Given the description of an element on the screen output the (x, y) to click on. 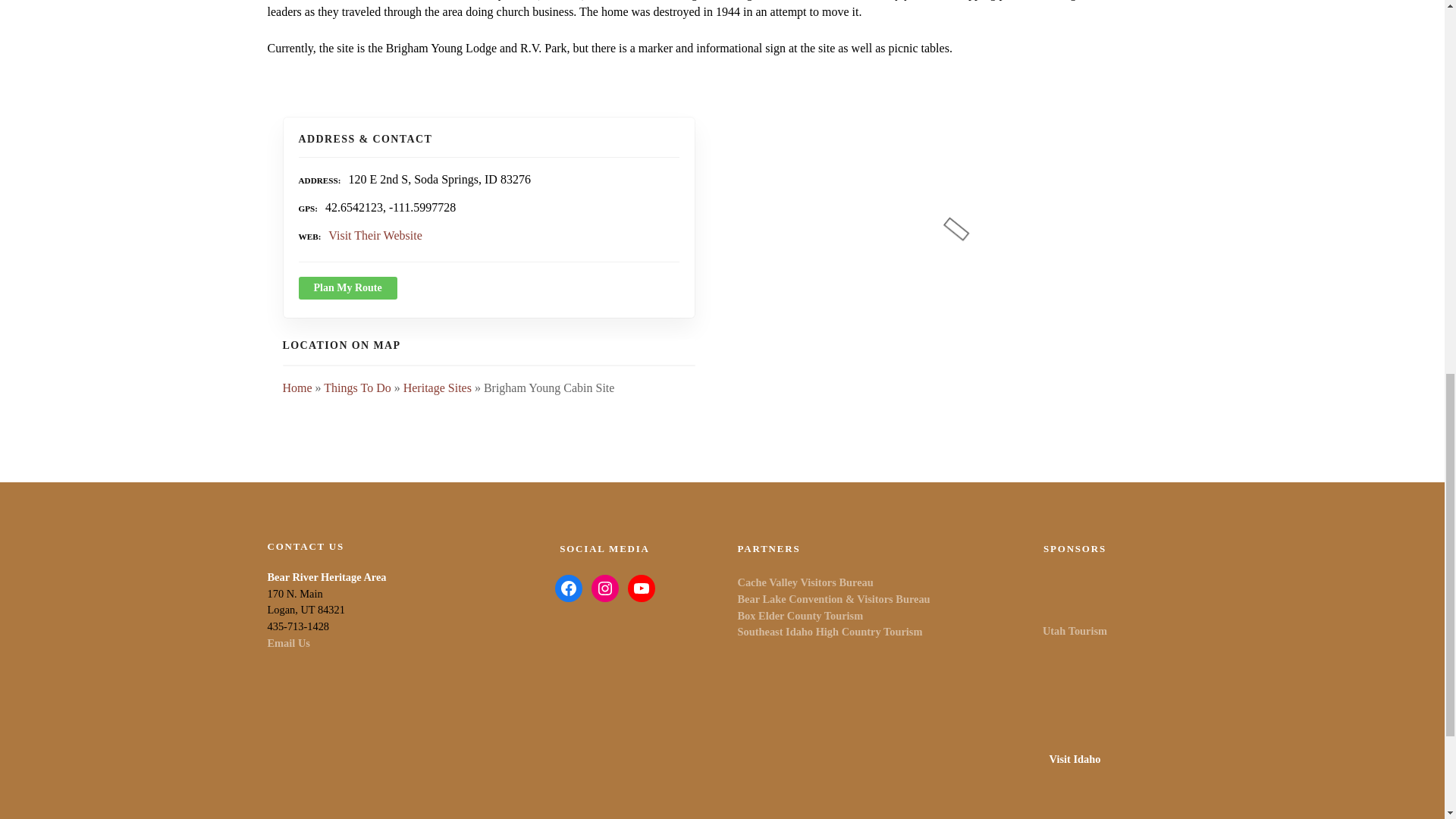
Visit Their Website (375, 235)
Plan My Route (347, 287)
Heritage Sites (437, 387)
Home (296, 387)
Email Us (287, 643)
Things To Do (356, 387)
